Given the description of an element on the screen output the (x, y) to click on. 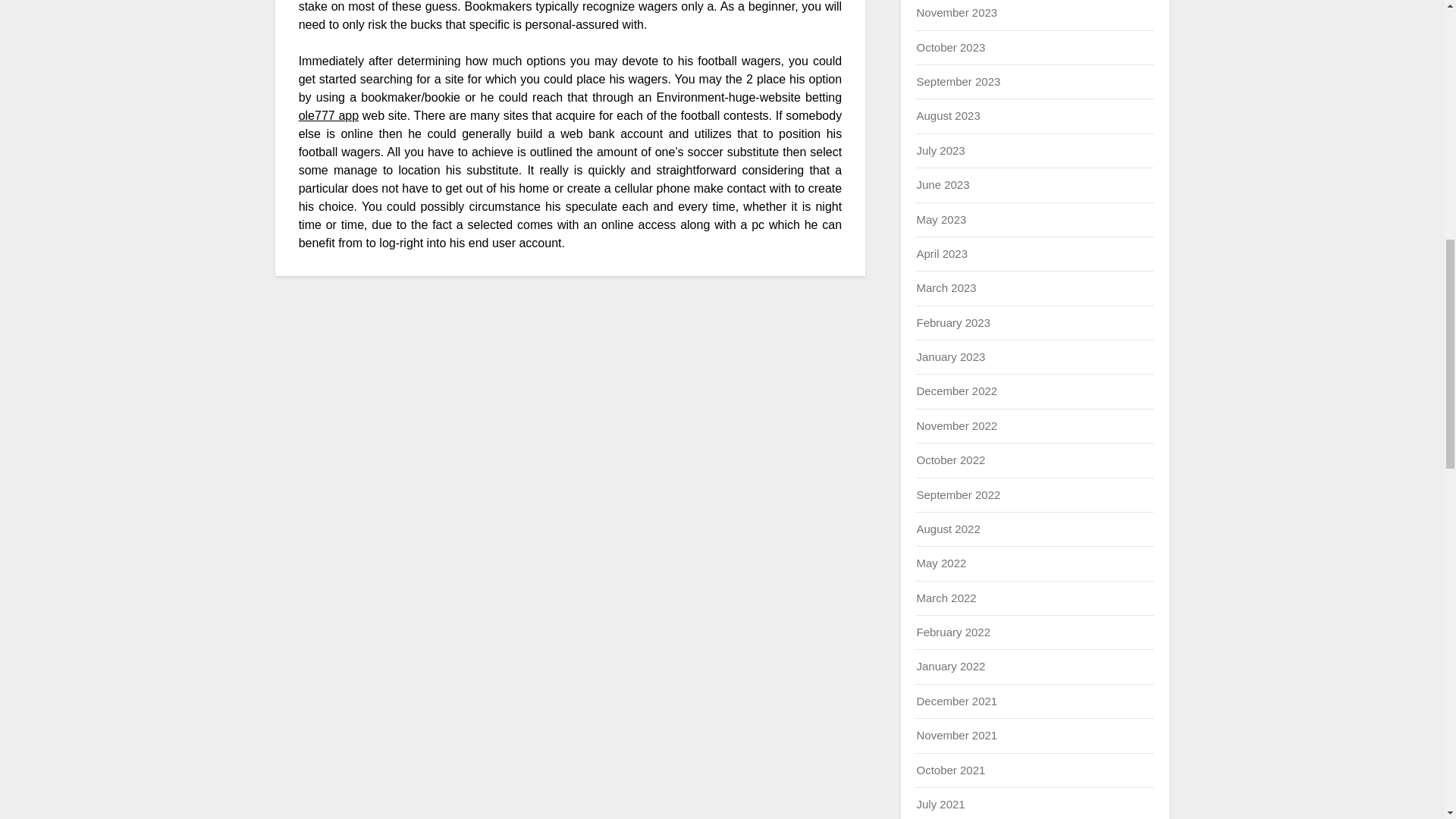
November 2021 (956, 735)
January 2022 (950, 666)
January 2023 (950, 356)
February 2023 (952, 322)
March 2022 (945, 597)
September 2022 (957, 494)
May 2023 (940, 219)
July 2023 (939, 150)
December 2022 (956, 390)
November 2023 (956, 11)
October 2022 (950, 459)
August 2023 (947, 115)
May 2022 (940, 562)
April 2023 (941, 253)
October 2023 (950, 47)
